Given the description of an element on the screen output the (x, y) to click on. 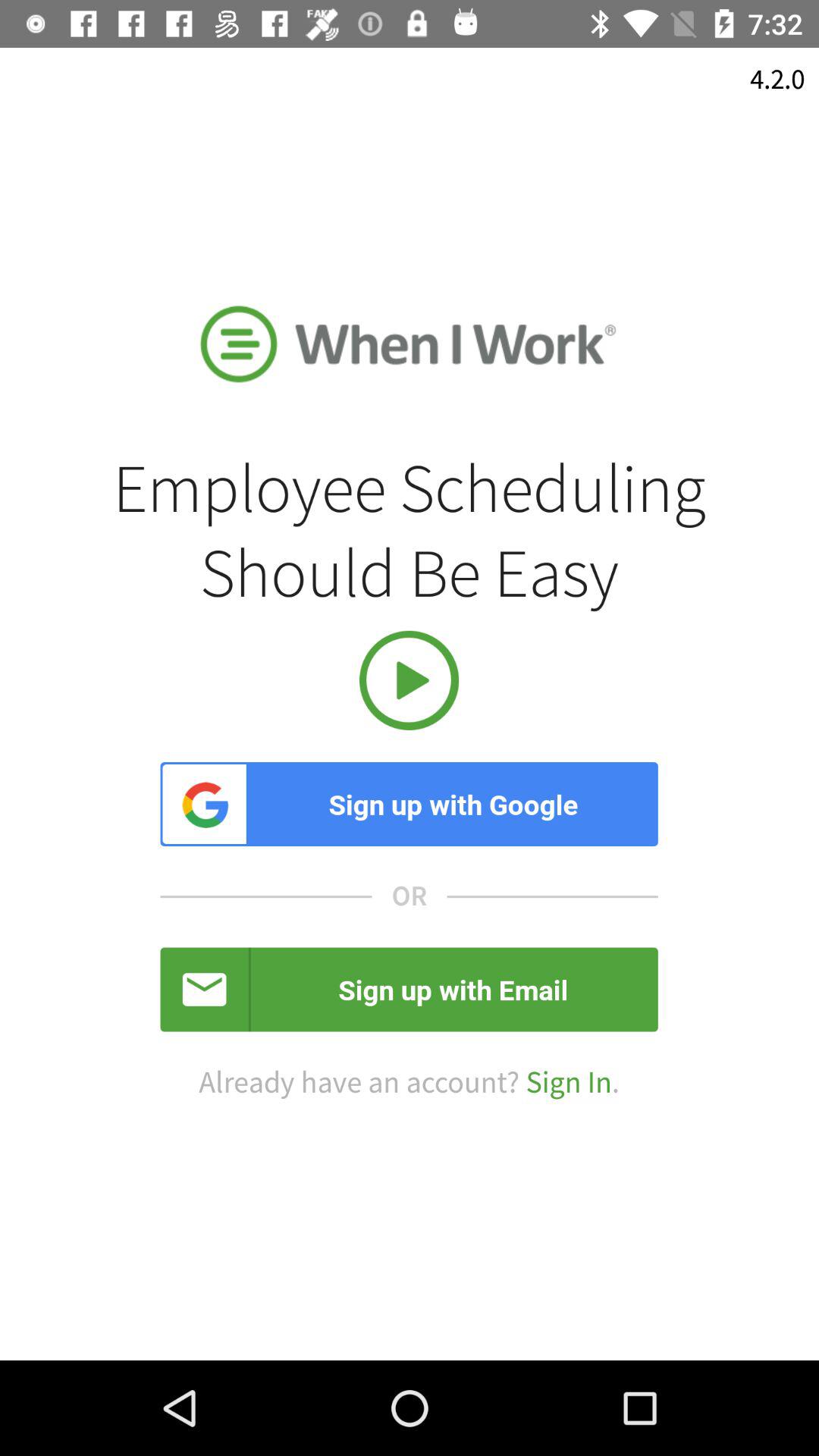
tap the item below employee scheduling should (408, 680)
